Given the description of an element on the screen output the (x, y) to click on. 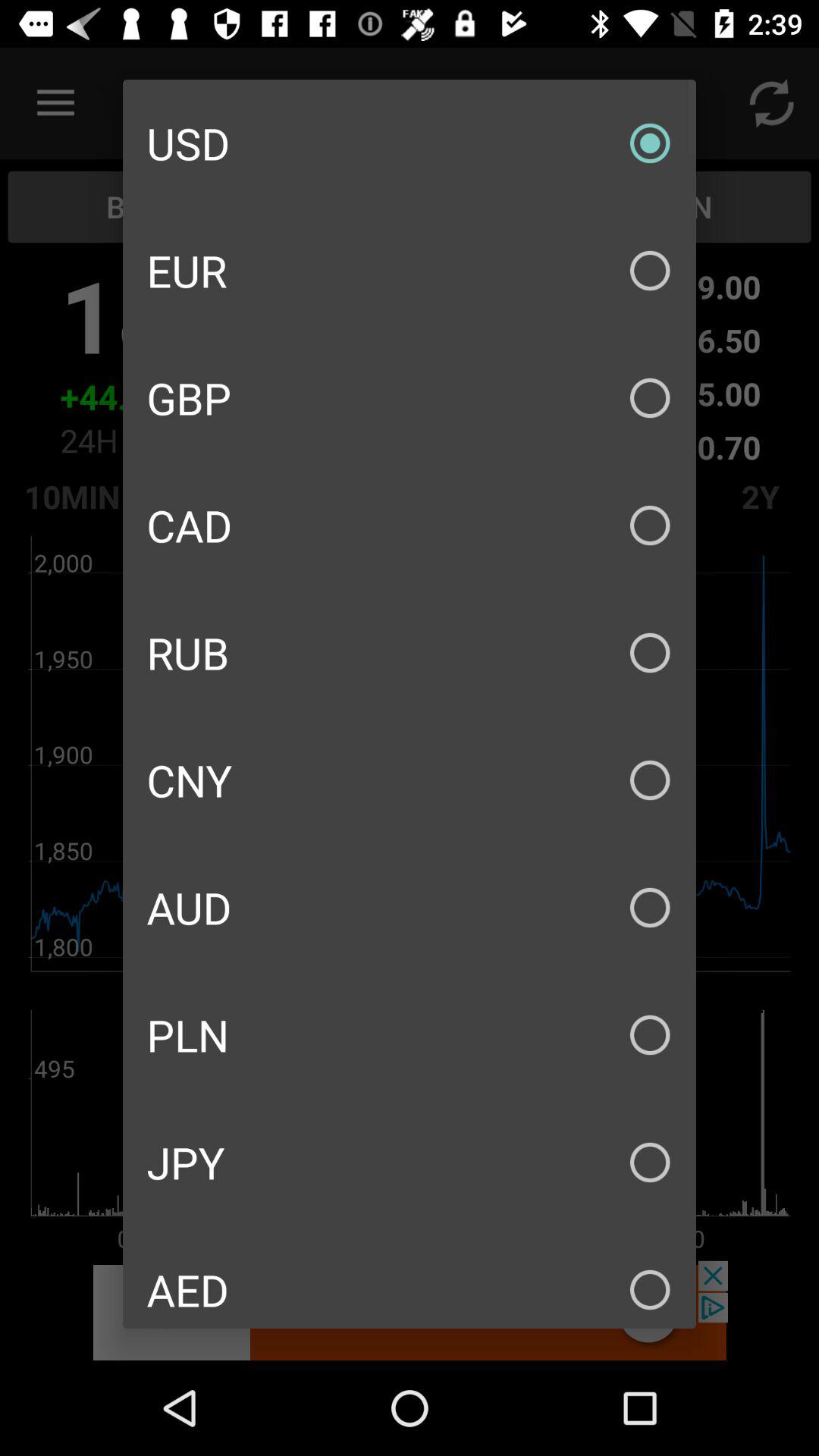
press icon above the rub item (409, 525)
